Given the description of an element on the screen output the (x, y) to click on. 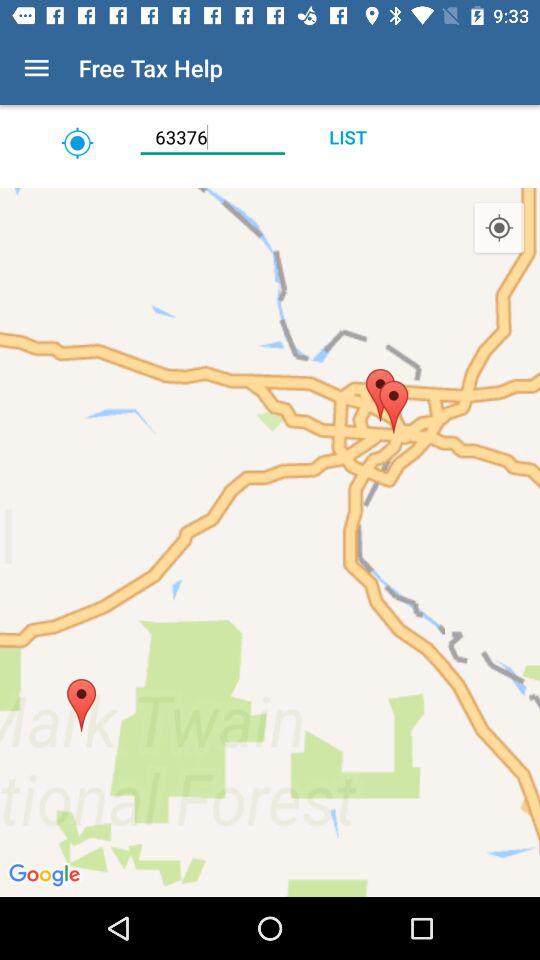
click icon to the left of the list (212, 137)
